Given the description of an element on the screen output the (x, y) to click on. 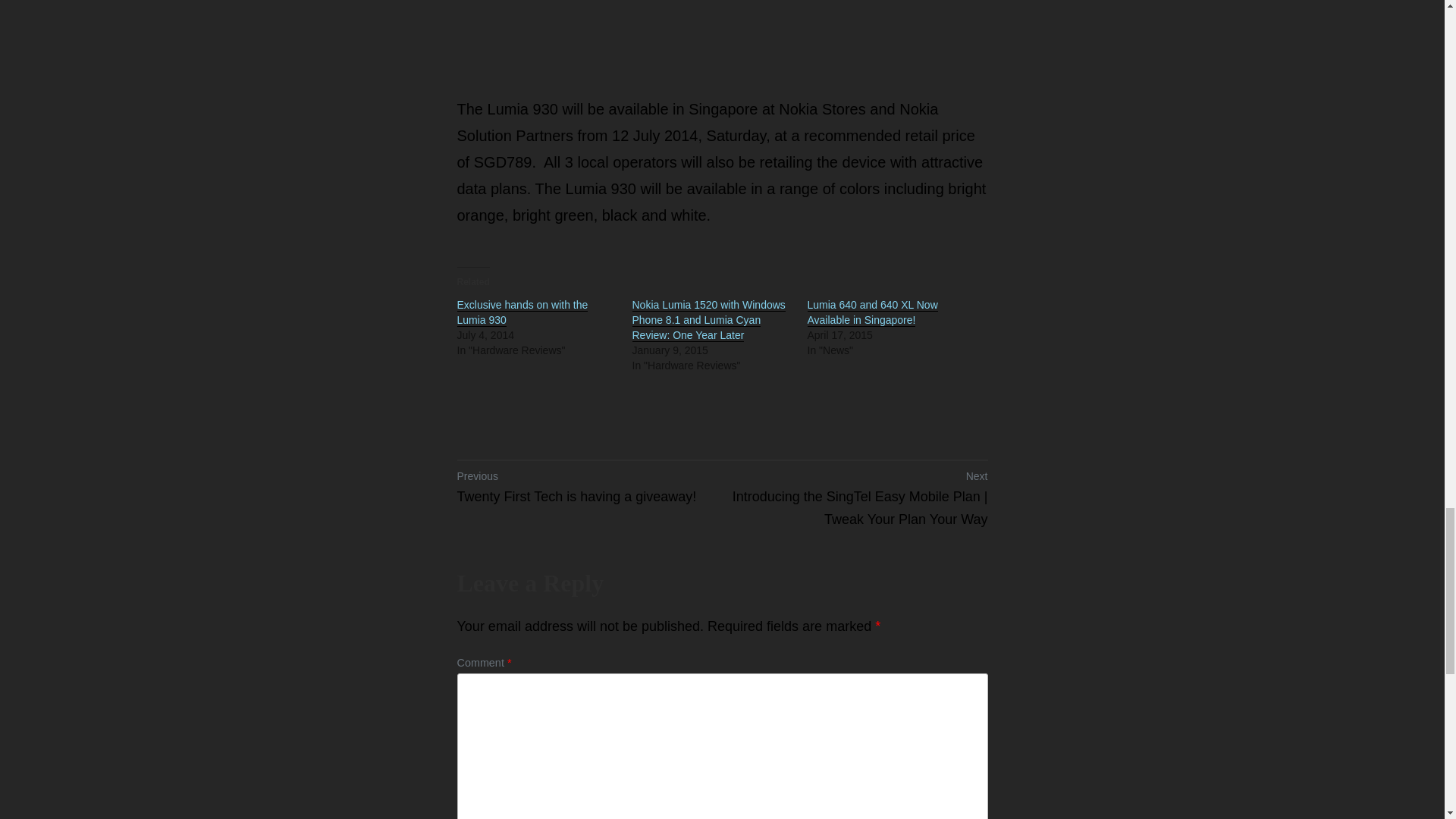
Lumia 640 and 640 XL Now Available in Singapore! (871, 312)
Lumia 640 and 640 XL Now Available in Singapore! (871, 312)
Exclusive hands on with the Lumia 930 (522, 312)
Exclusive hands on with the Lumia 930 (522, 312)
